Given the description of an element on the screen output the (x, y) to click on. 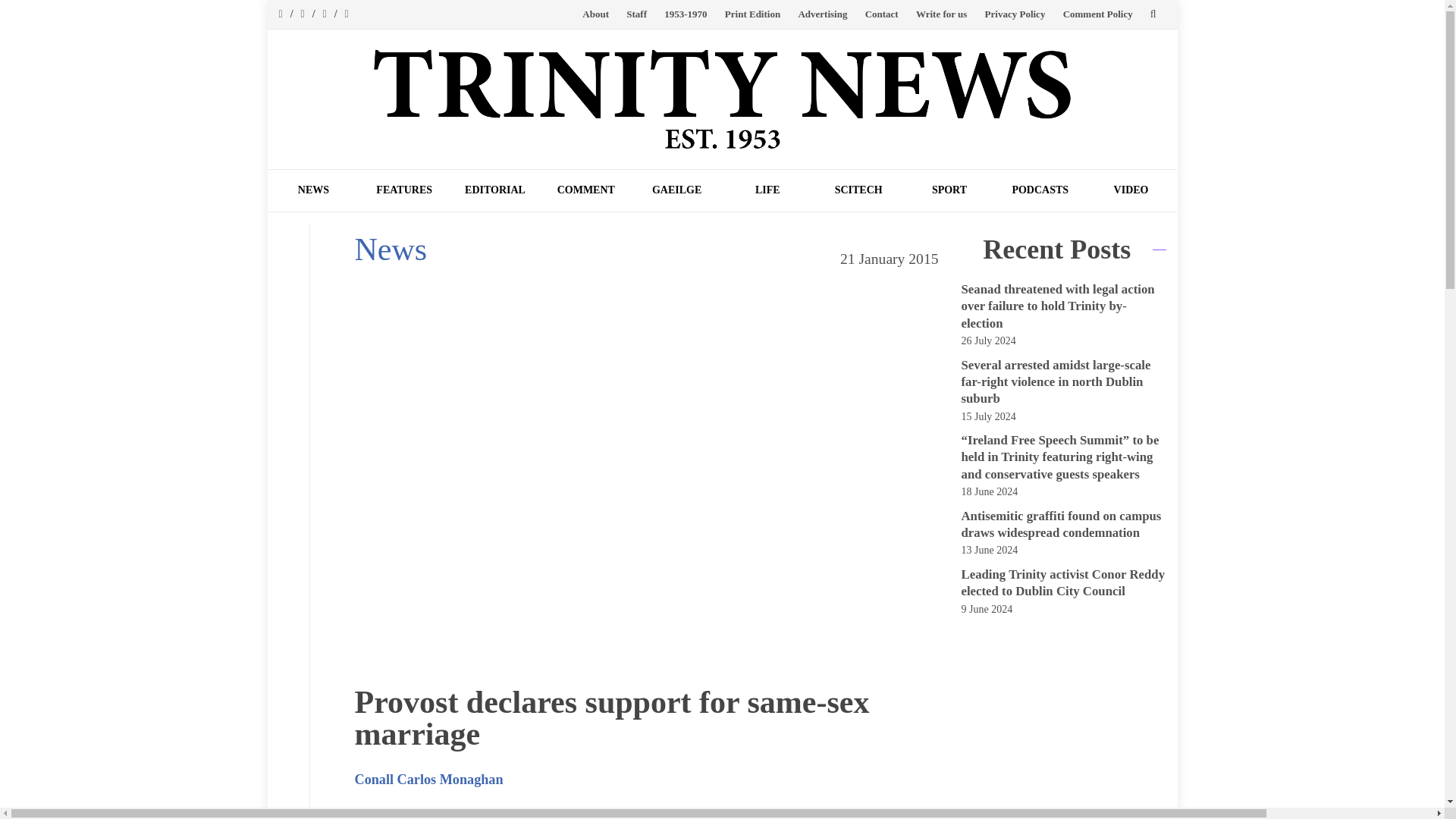
GAEILGE (676, 190)
NEWS (313, 190)
Write for us (940, 13)
VIDEO (1131, 190)
Conall Carlos Monaghan (429, 779)
1953-1970 (684, 13)
EDITORIAL (494, 190)
Staff (636, 13)
SCITECH (858, 190)
COMMENT (585, 190)
